Given the description of an element on the screen output the (x, y) to click on. 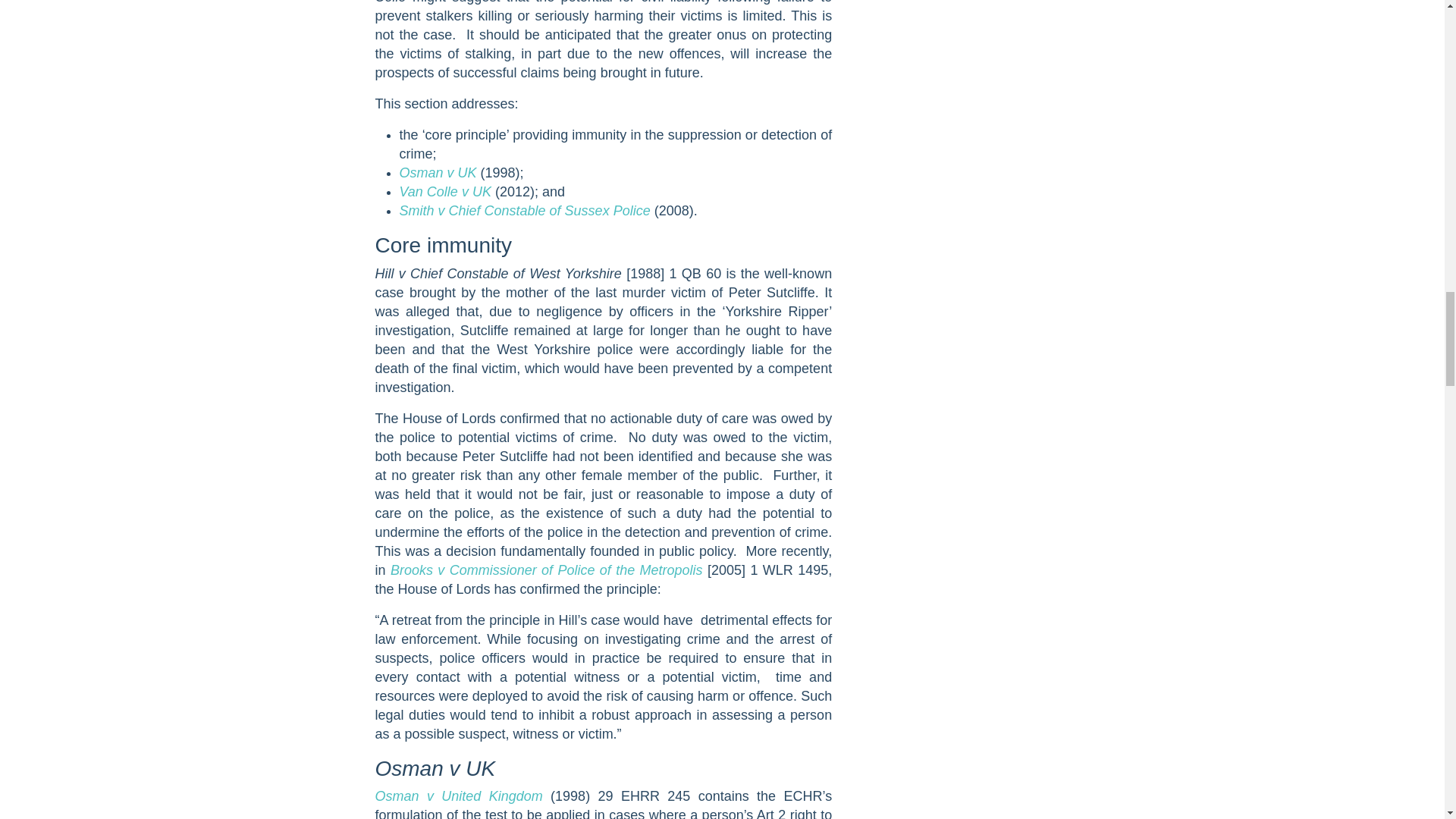
Osman v UK (437, 172)
Brooks v Commissioner of Police of the Metropolis (546, 570)
Van Colle v UK (444, 191)
Smith v Chief Constable of Sussex Police (523, 210)
Osman v United Kingdom (462, 795)
